Given the description of an element on the screen output the (x, y) to click on. 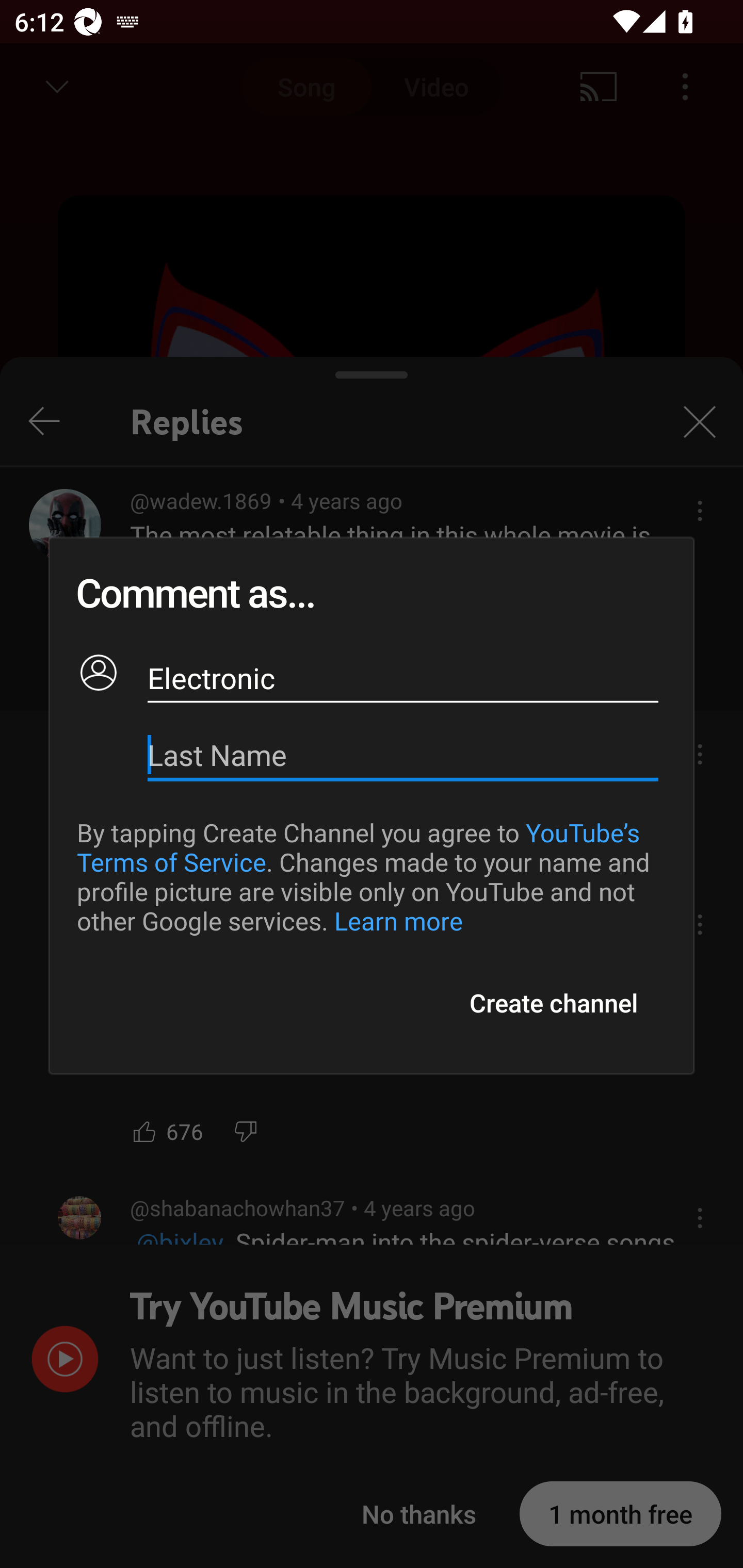
Electronic (403, 677)
Last Name (403, 754)
Create channel (552, 1002)
